Given the description of an element on the screen output the (x, y) to click on. 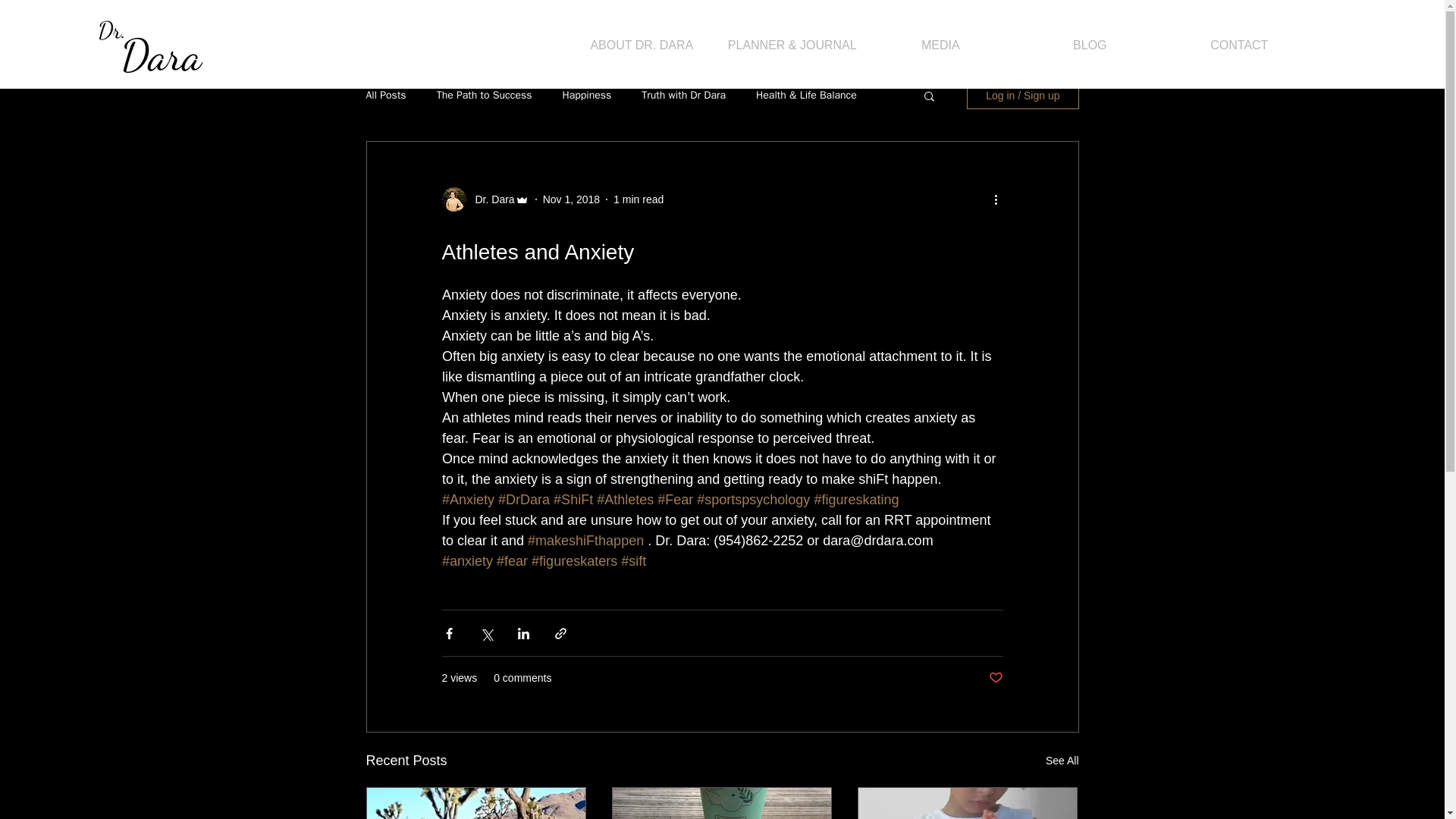
All Posts (385, 95)
CONTACT (1239, 44)
Happiness (586, 95)
Post not marked as liked (995, 678)
ABOUT DR. DARA (641, 44)
See All (1061, 761)
Nov 1, 2018 (571, 198)
Truth with Dr Dara (683, 95)
Dr. Dara (489, 198)
The Path to Success (484, 95)
BLOG (1089, 44)
1 min read (637, 198)
